Given the description of an element on the screen output the (x, y) to click on. 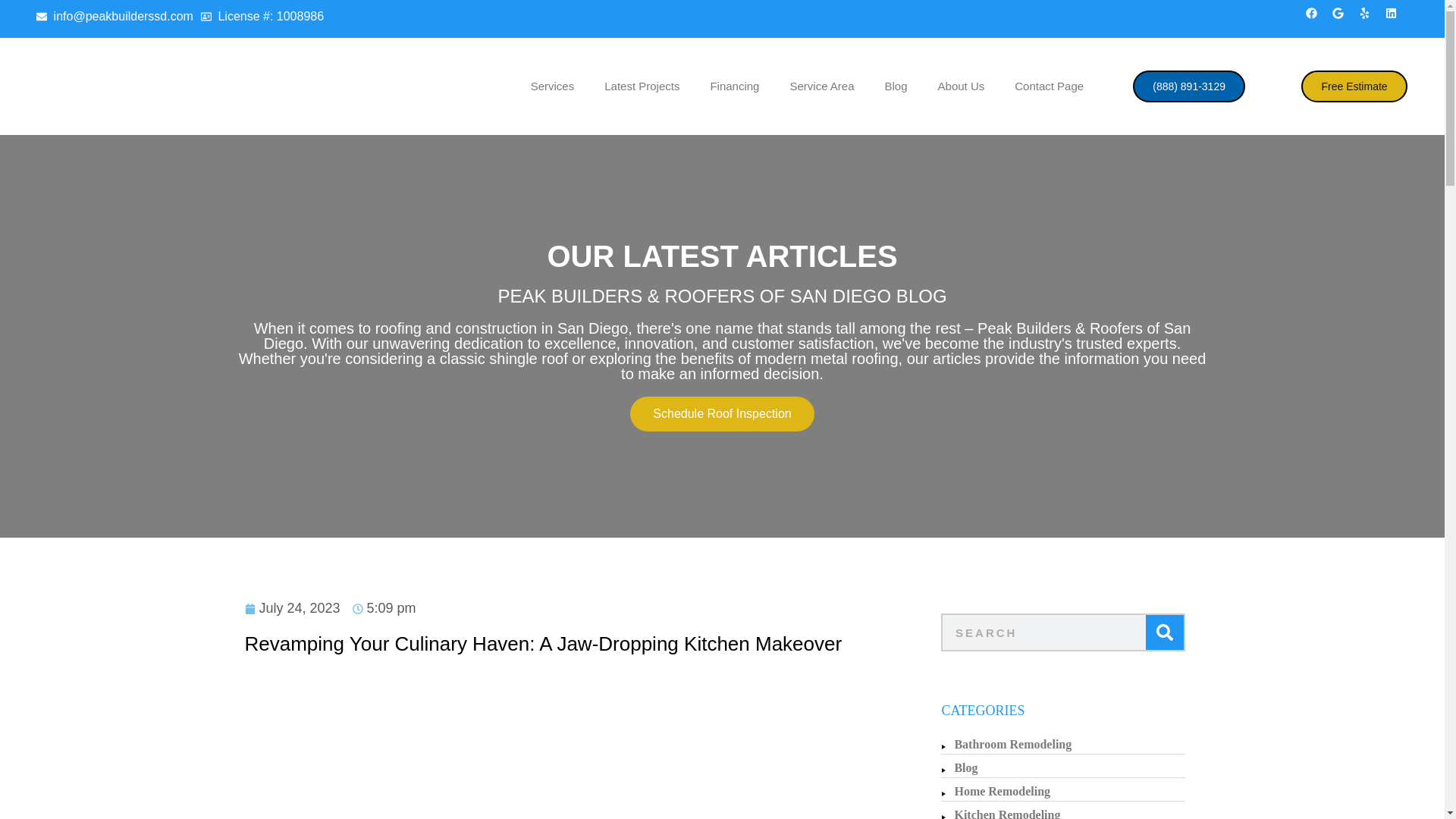
Service Area (821, 86)
Financing (734, 86)
About Us (961, 86)
Contact Page (1048, 86)
Latest Projects (641, 86)
Blog (896, 86)
Services (552, 86)
